Given the description of an element on the screen output the (x, y) to click on. 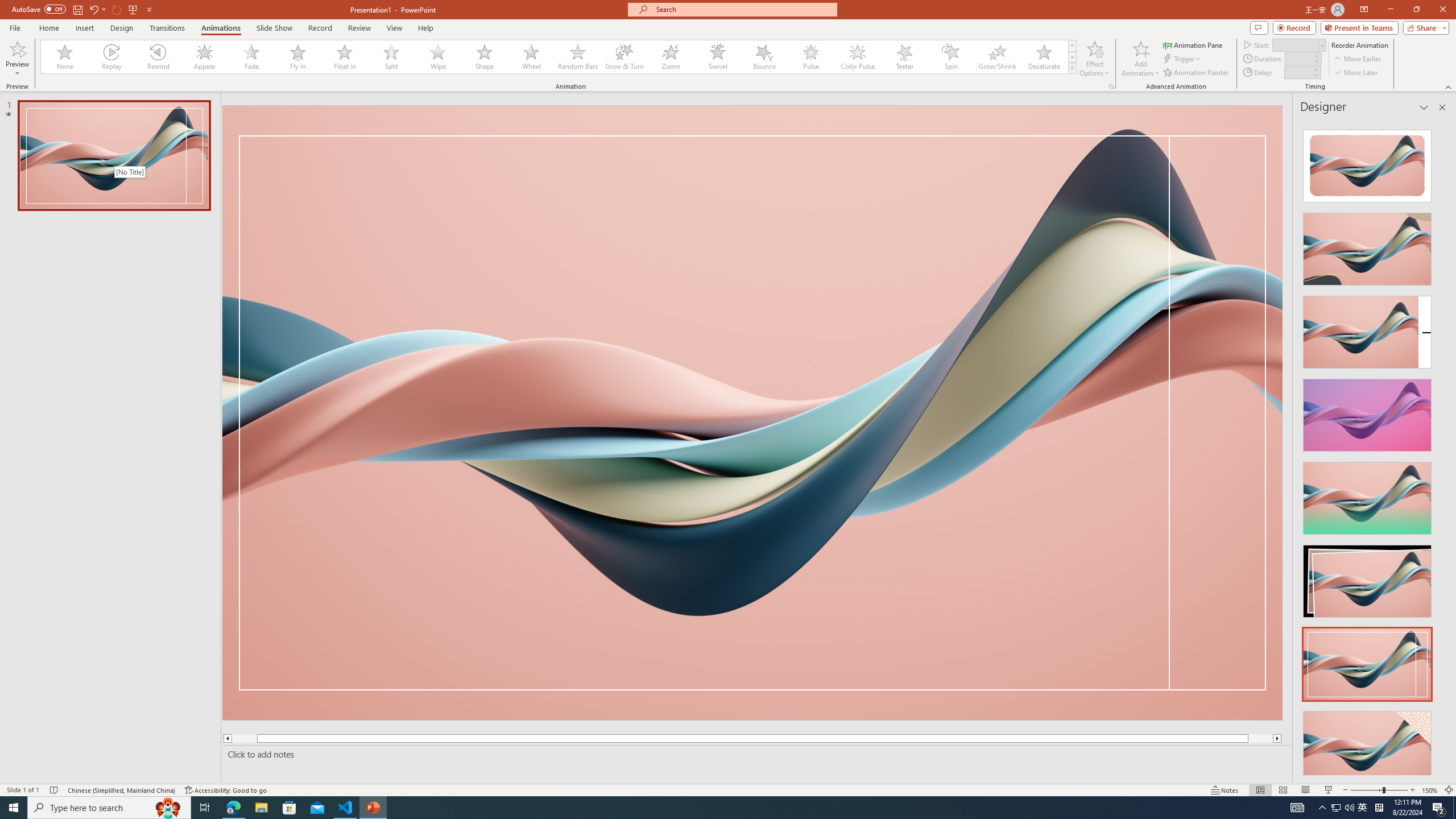
Wavy 3D art (752, 412)
Float In (344, 56)
Wheel (531, 56)
Decorative Locked (752, 412)
Add Animation (1141, 58)
Grow & Turn (624, 56)
